Given the description of an element on the screen output the (x, y) to click on. 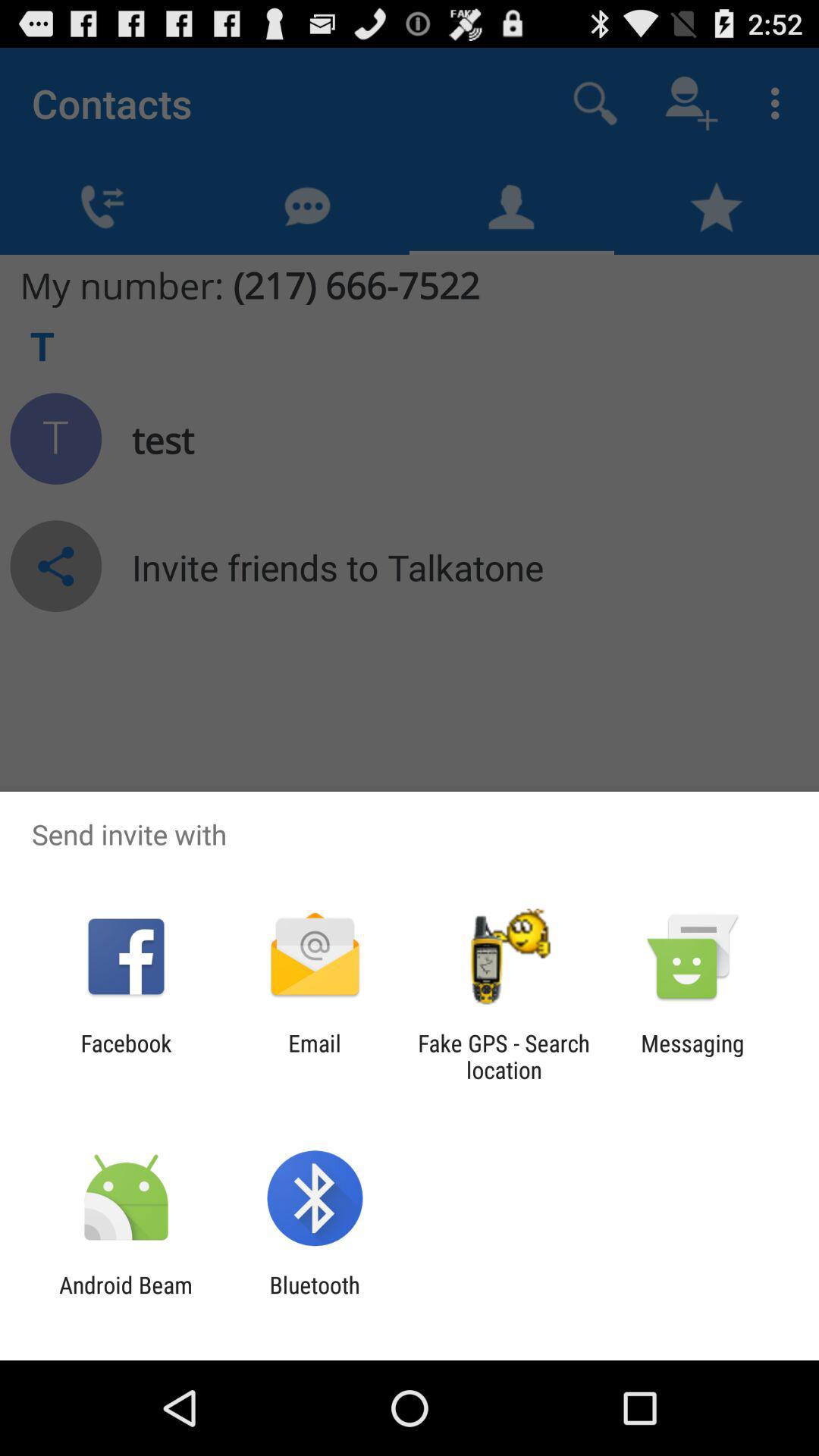
press the bluetooth icon (314, 1298)
